Given the description of an element on the screen output the (x, y) to click on. 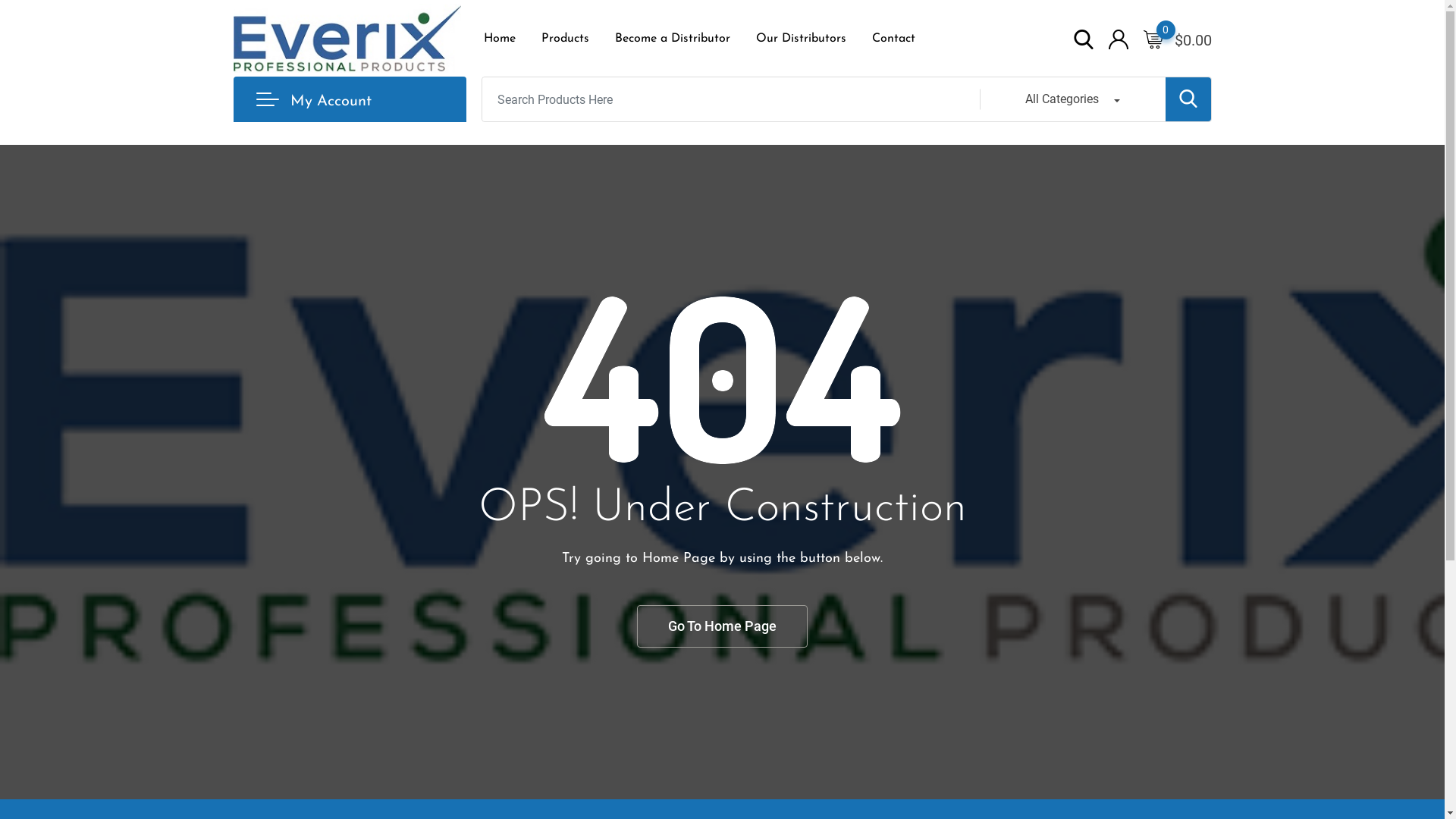
Go To Home Page Element type: text (722, 625)
Become a Distributor Element type: text (672, 38)
All Categories Element type: text (1071, 99)
0 Element type: text (1153, 38)
Our Distributors Element type: text (800, 38)
Contact Element type: text (892, 38)
Products Element type: text (564, 38)
Home Element type: text (505, 38)
